Given the description of an element on the screen output the (x, y) to click on. 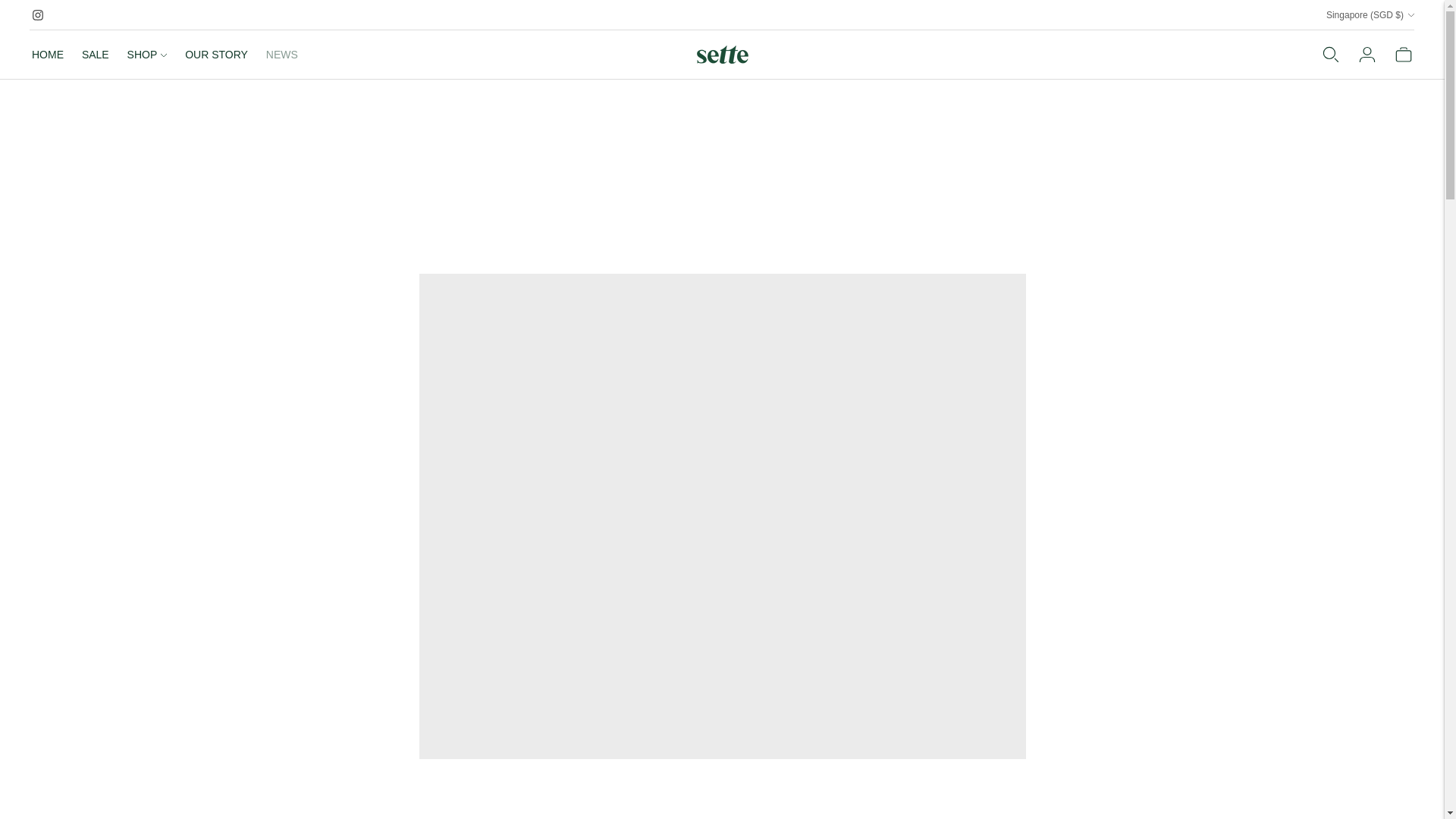
sette on Instagram (37, 14)
